Given the description of an element on the screen output the (x, y) to click on. 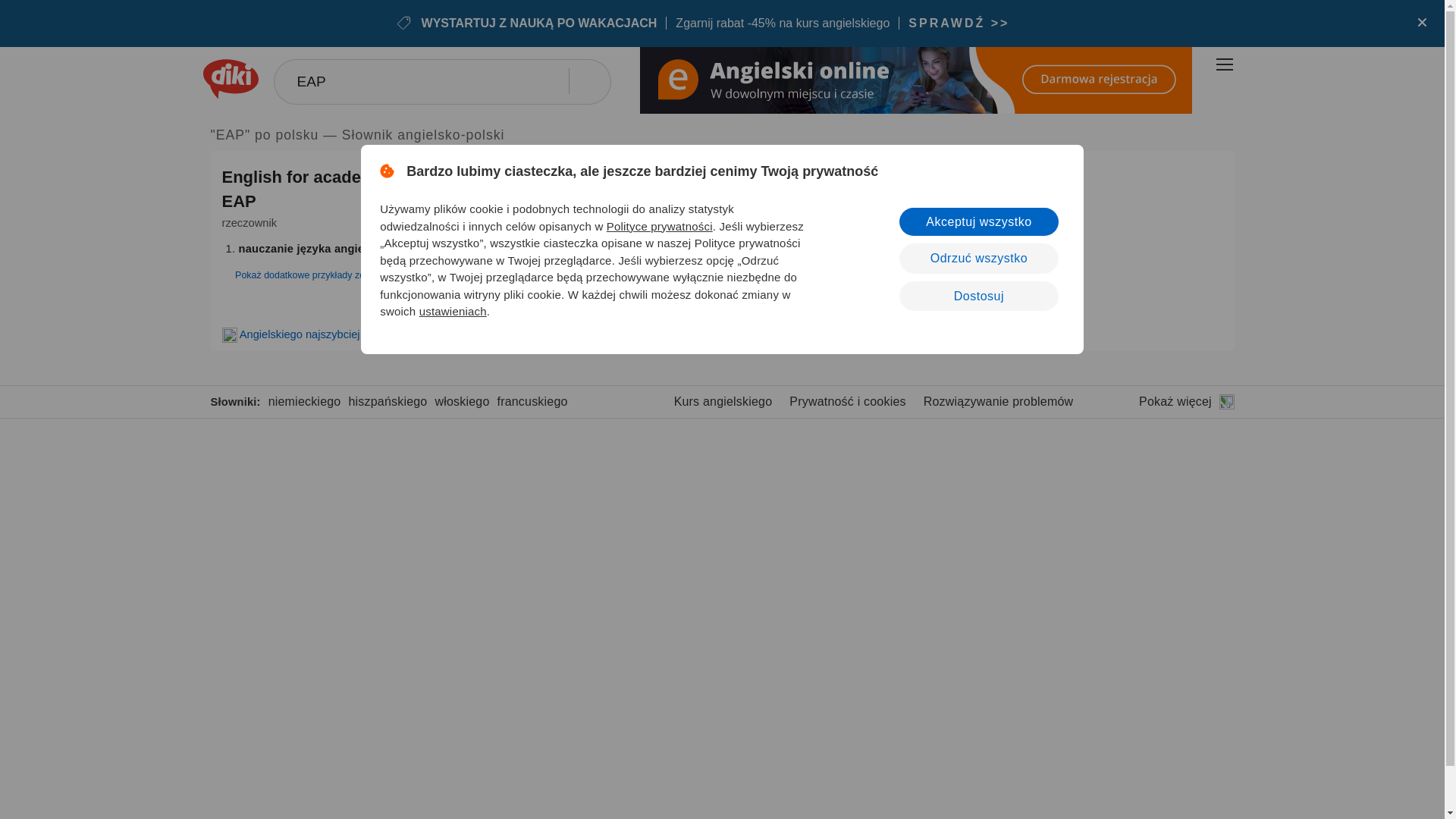
Akceptuj wszystko (978, 221)
Szukaj (587, 80)
English for academic purposes (344, 176)
ustawieniach (452, 310)
British English (484, 178)
Dostosuj (978, 296)
EAP (441, 81)
EAP (441, 81)
